Given the description of an element on the screen output the (x, y) to click on. 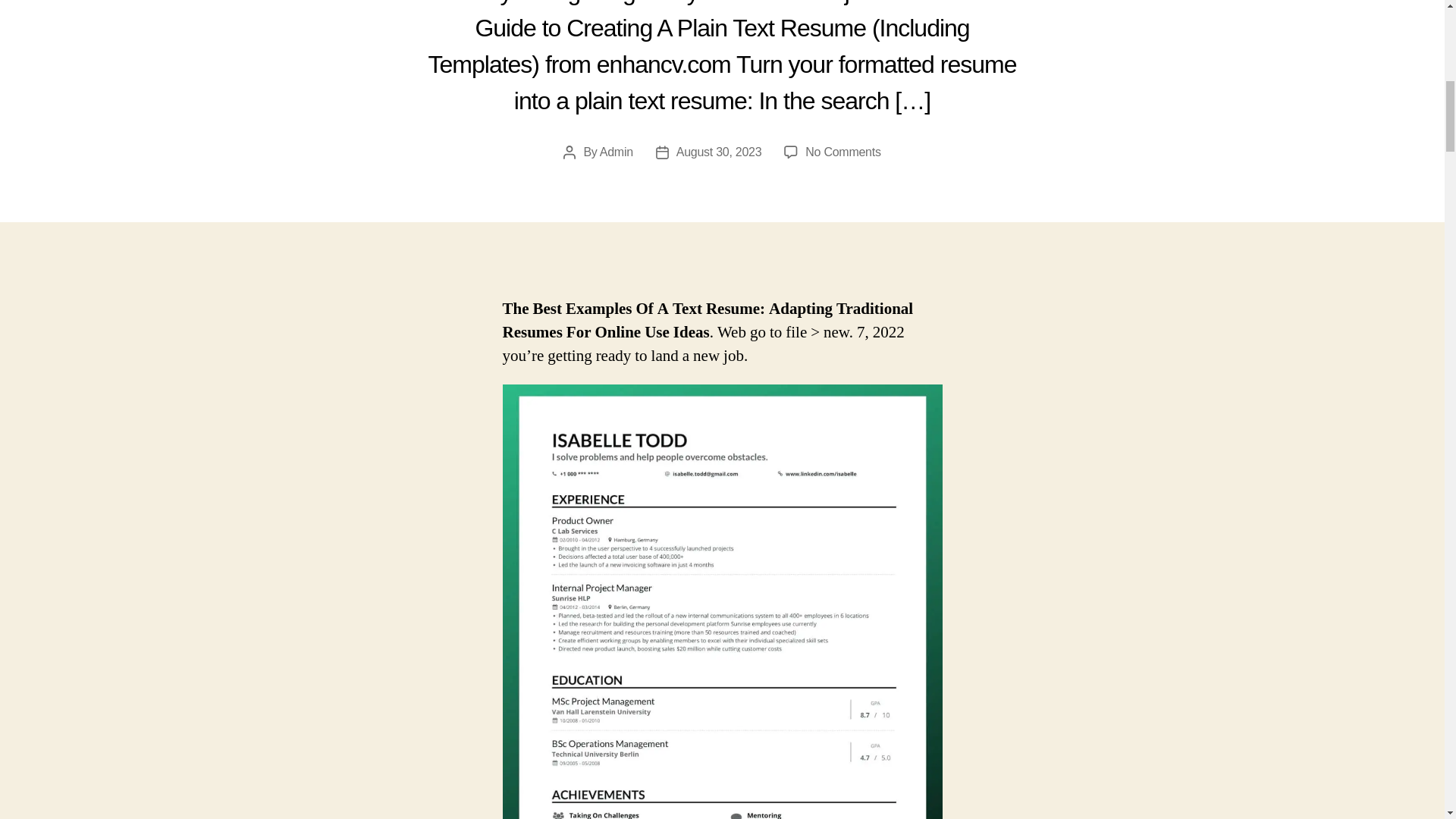
August 30, 2023 (719, 151)
Admin (616, 151)
